Given the description of an element on the screen output the (x, y) to click on. 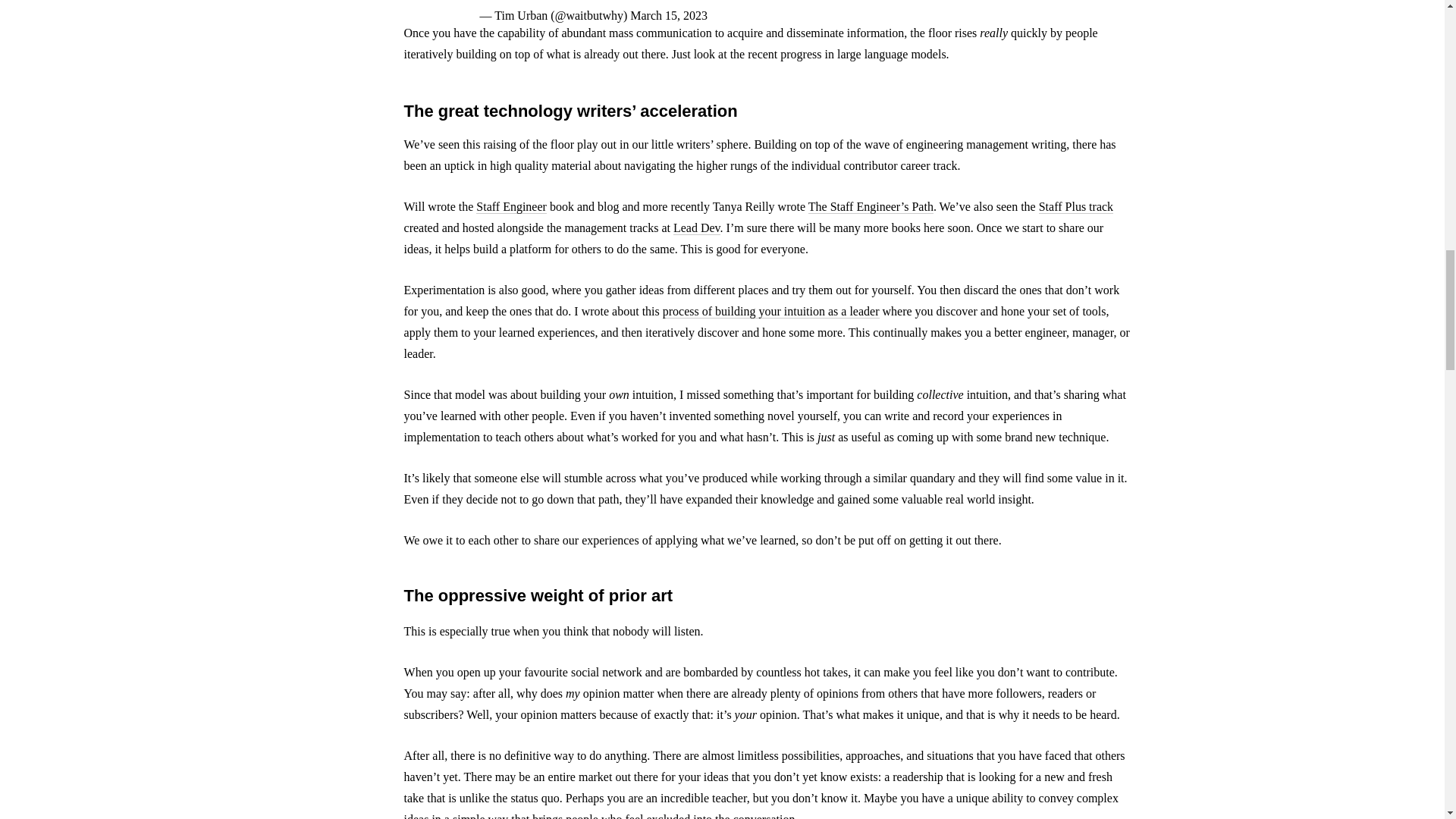
process of building your intuition as a leader (770, 311)
March 15, 2023 (668, 15)
Staff Engineer (511, 206)
Staff Plus track (1076, 206)
Lead Dev (696, 228)
